Given the description of an element on the screen output the (x, y) to click on. 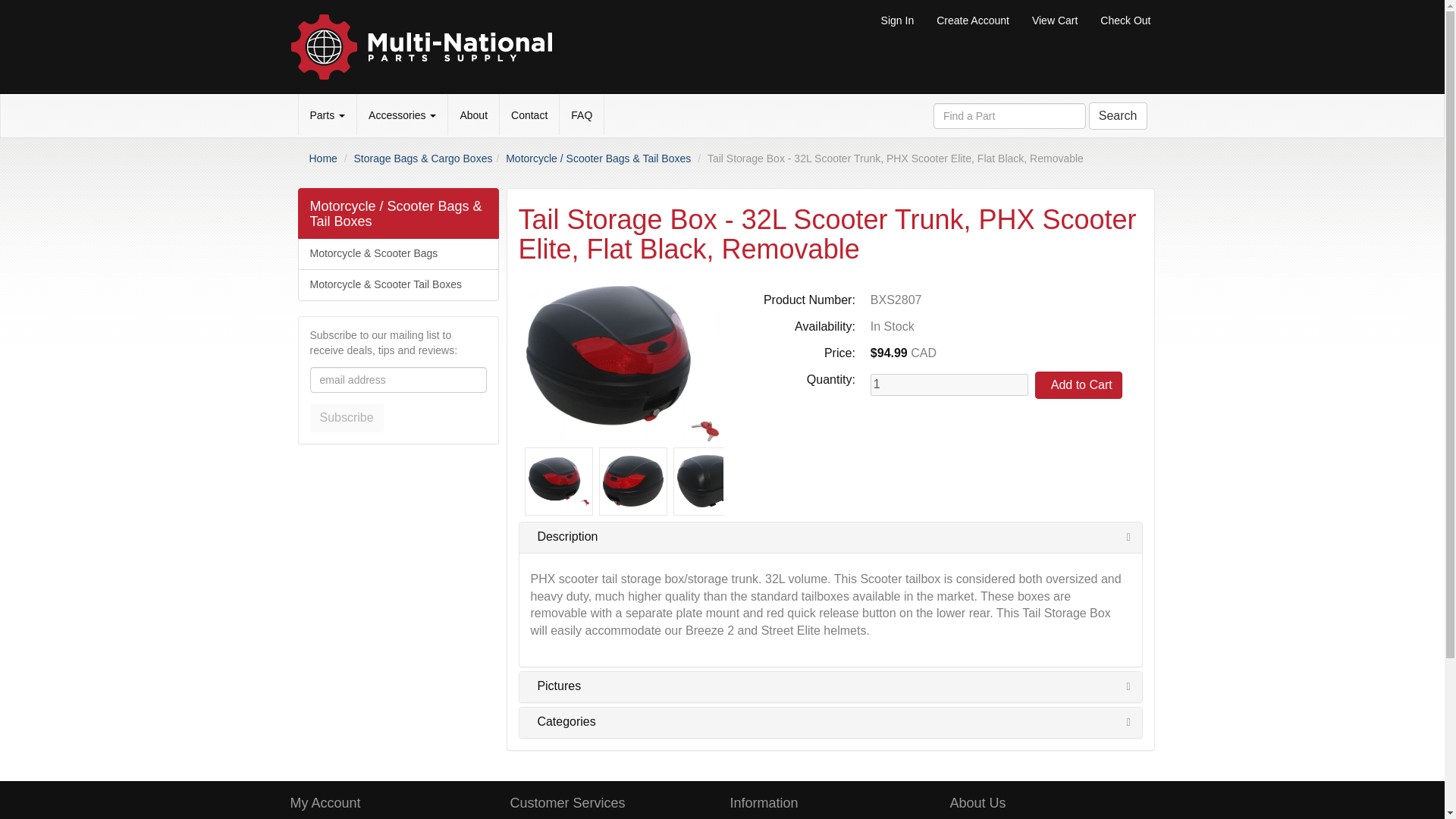
Sign In (897, 20)
Parts (328, 115)
Check Out (1125, 20)
View Cart (1054, 20)
1 (948, 384)
Create Account (972, 20)
Accessories (402, 115)
